Given the description of an element on the screen output the (x, y) to click on. 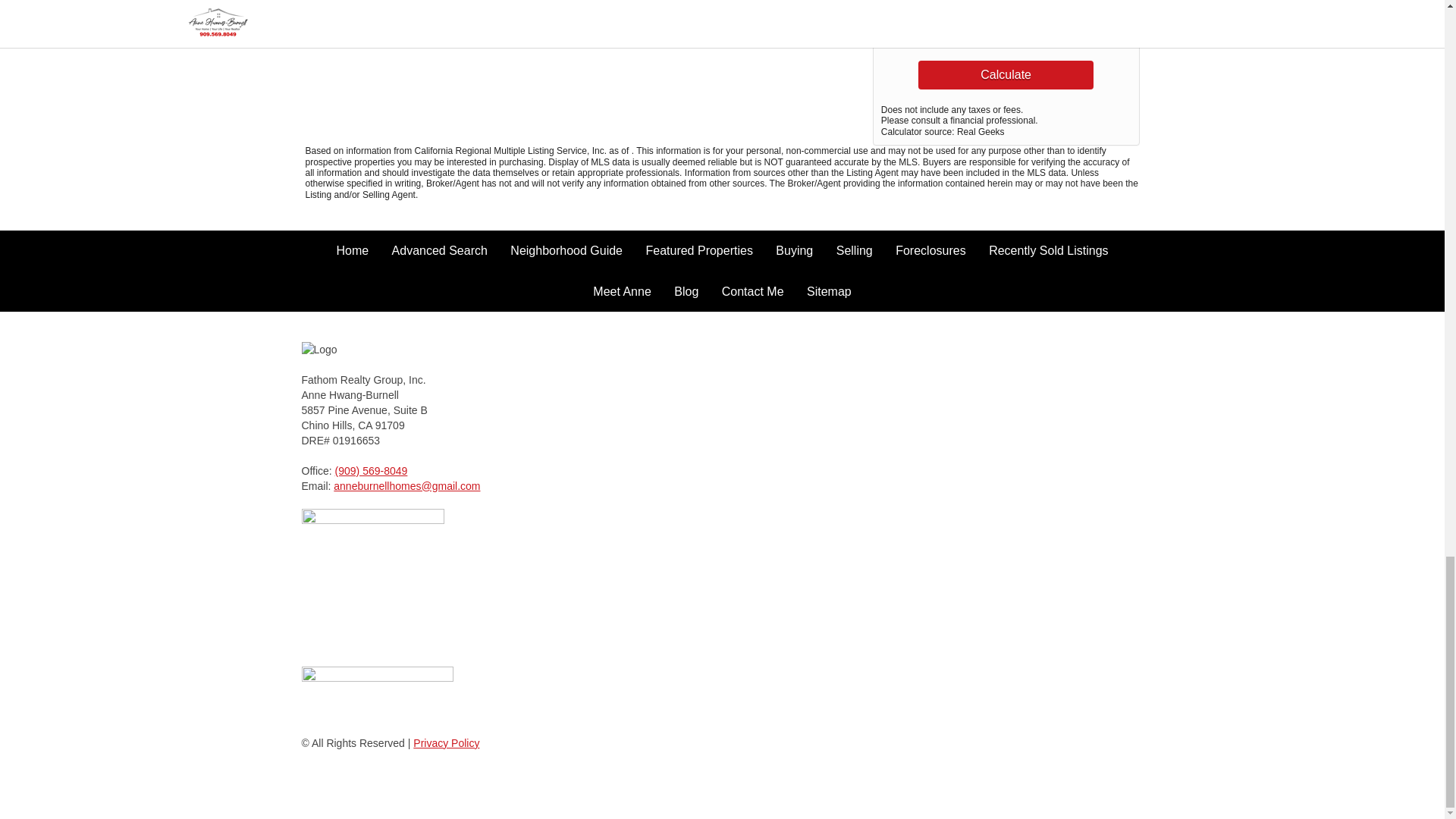
MLS Logo (376, 693)
30 (1037, 33)
6 (1037, 7)
Logo (357, 349)
